Given the description of an element on the screen output the (x, y) to click on. 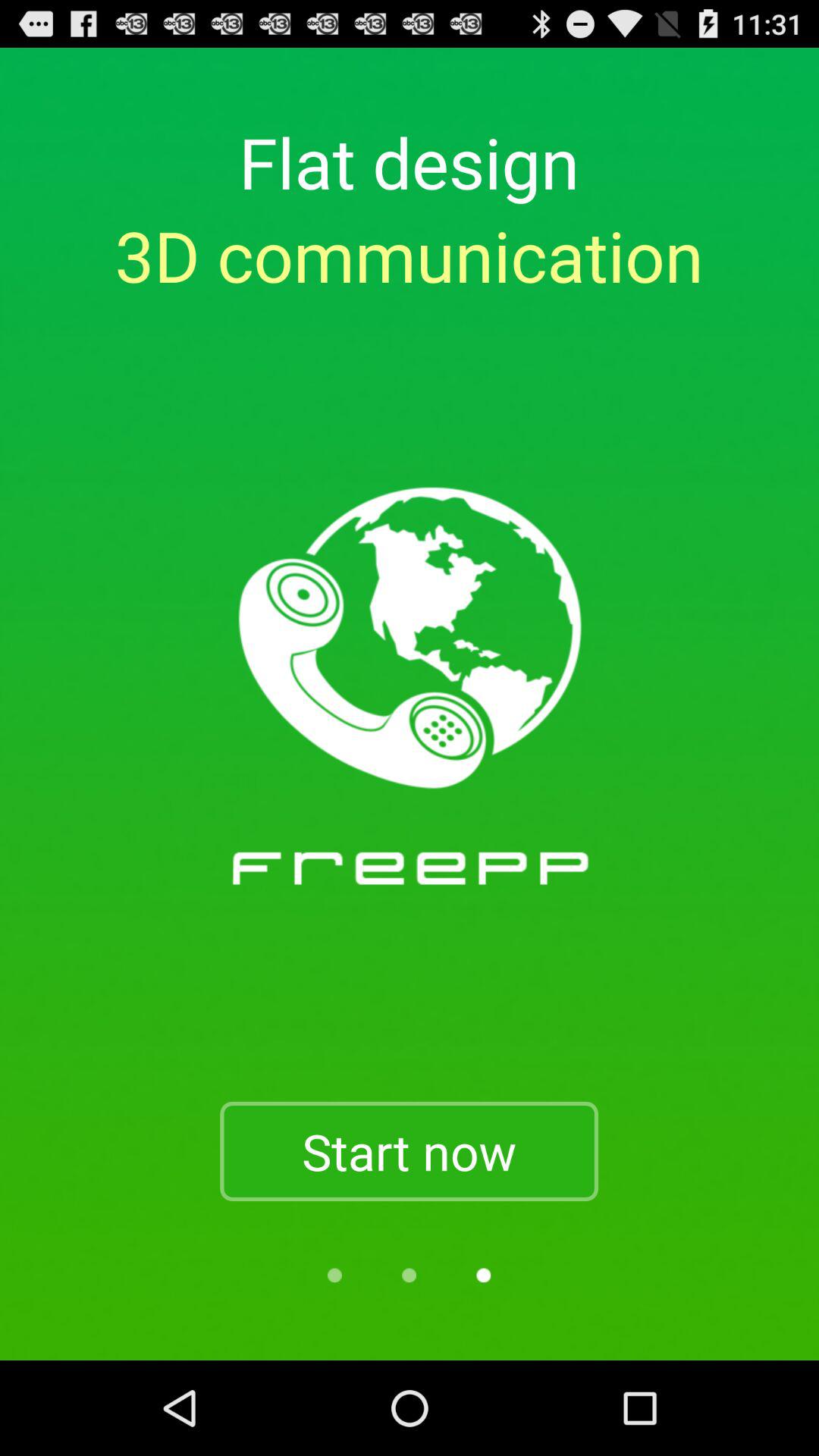
open start now (409, 1151)
